Given the description of an element on the screen output the (x, y) to click on. 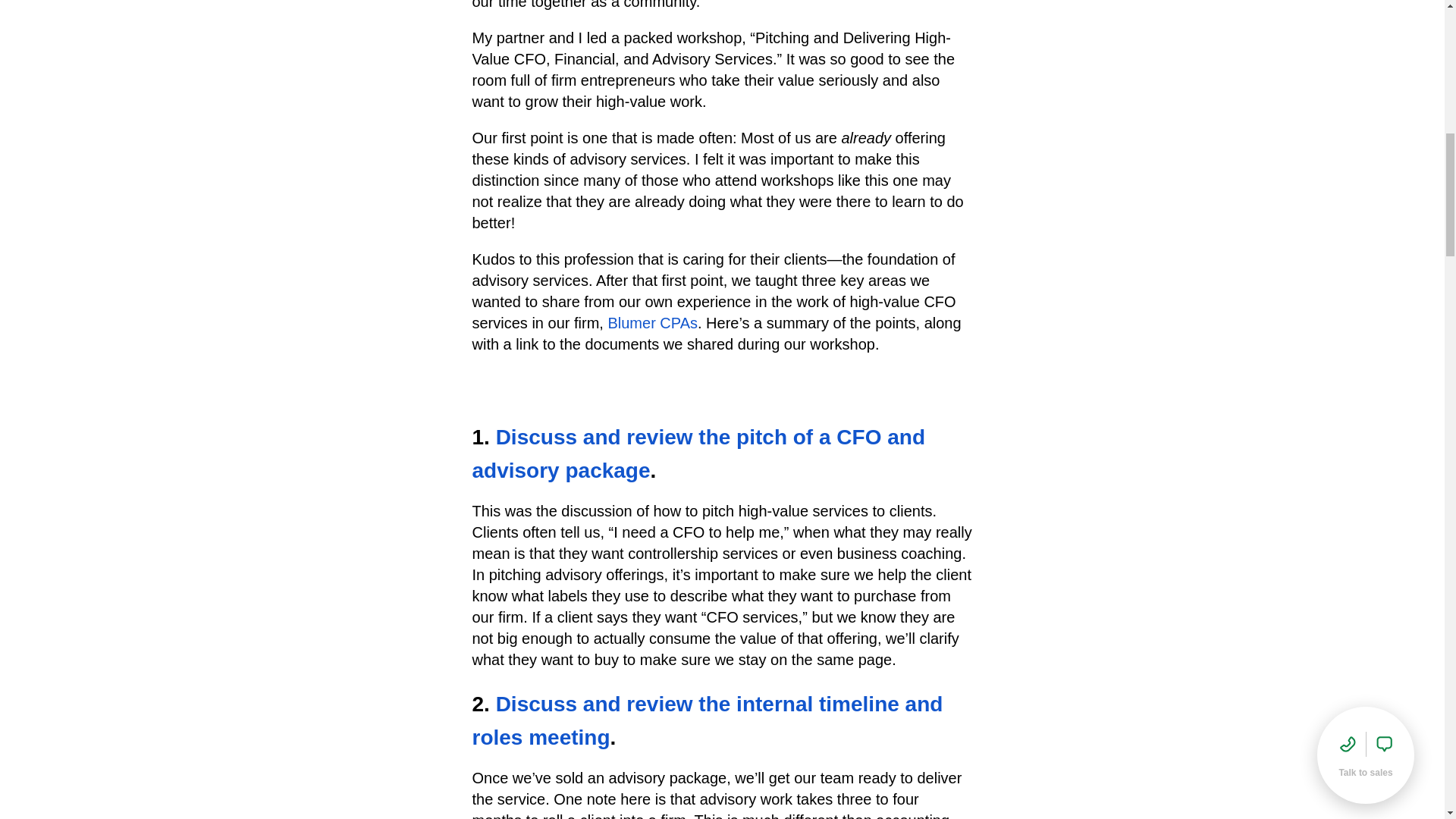
Discuss and review the internal timeline and roles meeting (706, 720)
Blumer CPAs (652, 322)
Discuss and review the pitch of a CFO and advisory package (697, 453)
